Given the description of an element on the screen output the (x, y) to click on. 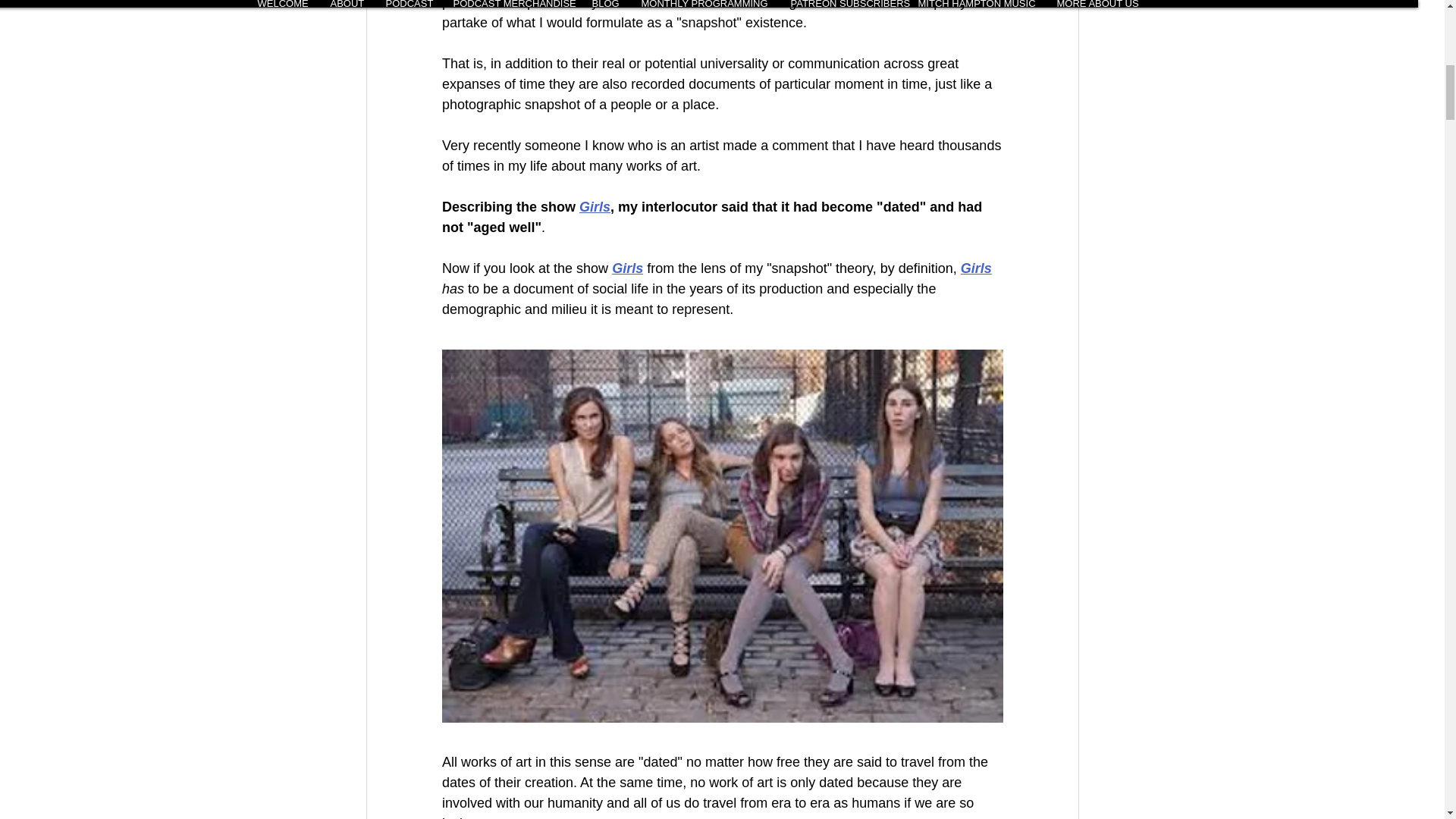
Girls (627, 268)
Girls (594, 206)
Girls (975, 268)
